Given the description of an element on the screen output the (x, y) to click on. 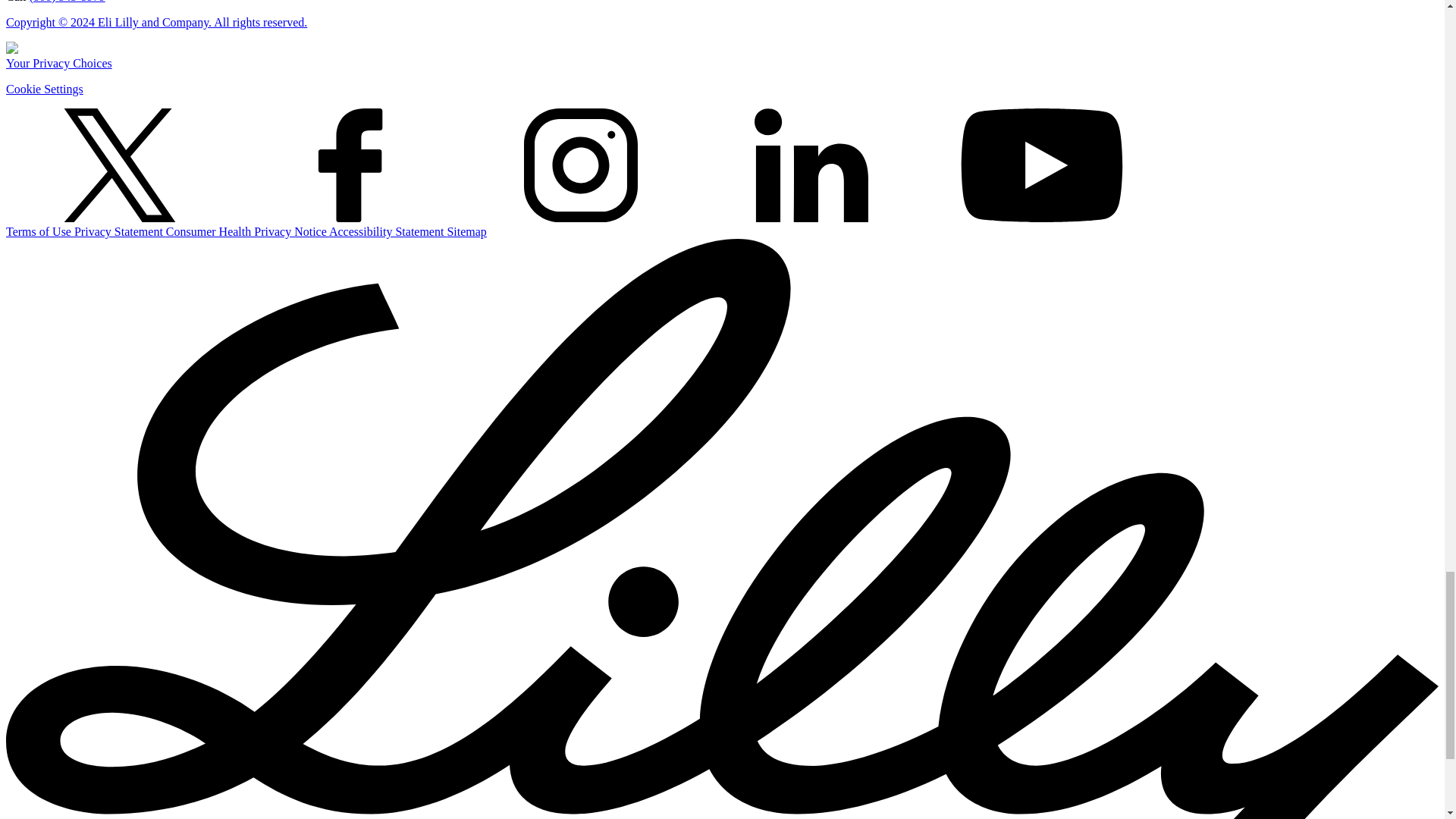
X (118, 164)
LinkedIn (810, 164)
Facebook (349, 164)
Instagram (580, 164)
YouTube (1042, 164)
